Given the description of an element on the screen output the (x, y) to click on. 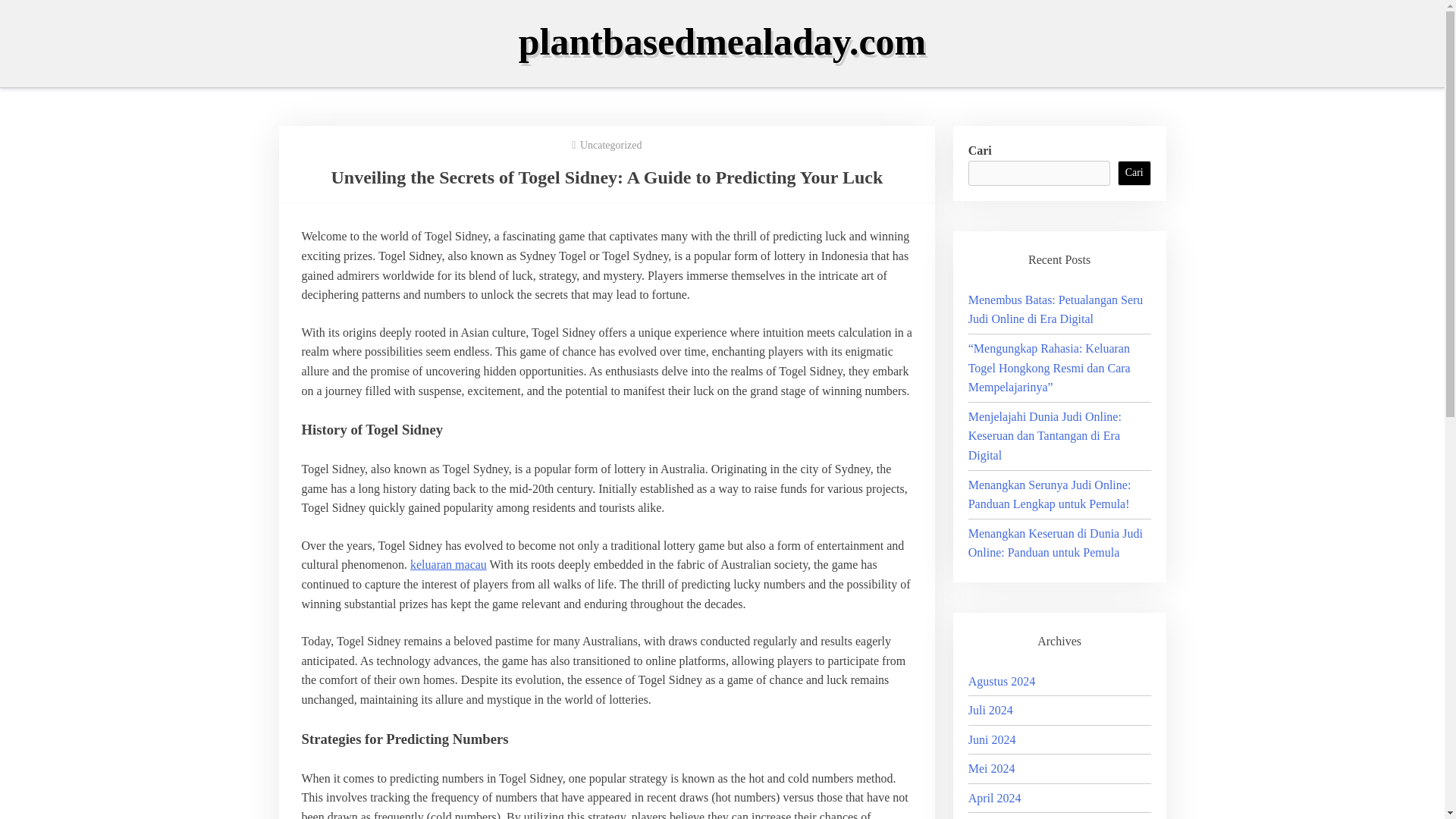
Cari (1134, 173)
April 2024 (995, 797)
Menembus Batas: Petualangan Seru Judi Online di Era Digital (1055, 309)
Juli 2024 (990, 709)
Mei 2024 (991, 768)
Agustus 2024 (1001, 680)
Uncategorized (610, 144)
Juni 2024 (992, 739)
plantbasedmealaday.com (722, 41)
keluaran macau (448, 563)
Menangkan Serunya Judi Online: Panduan Lengkap untuk Pemula! (1049, 494)
